Given the description of an element on the screen output the (x, y) to click on. 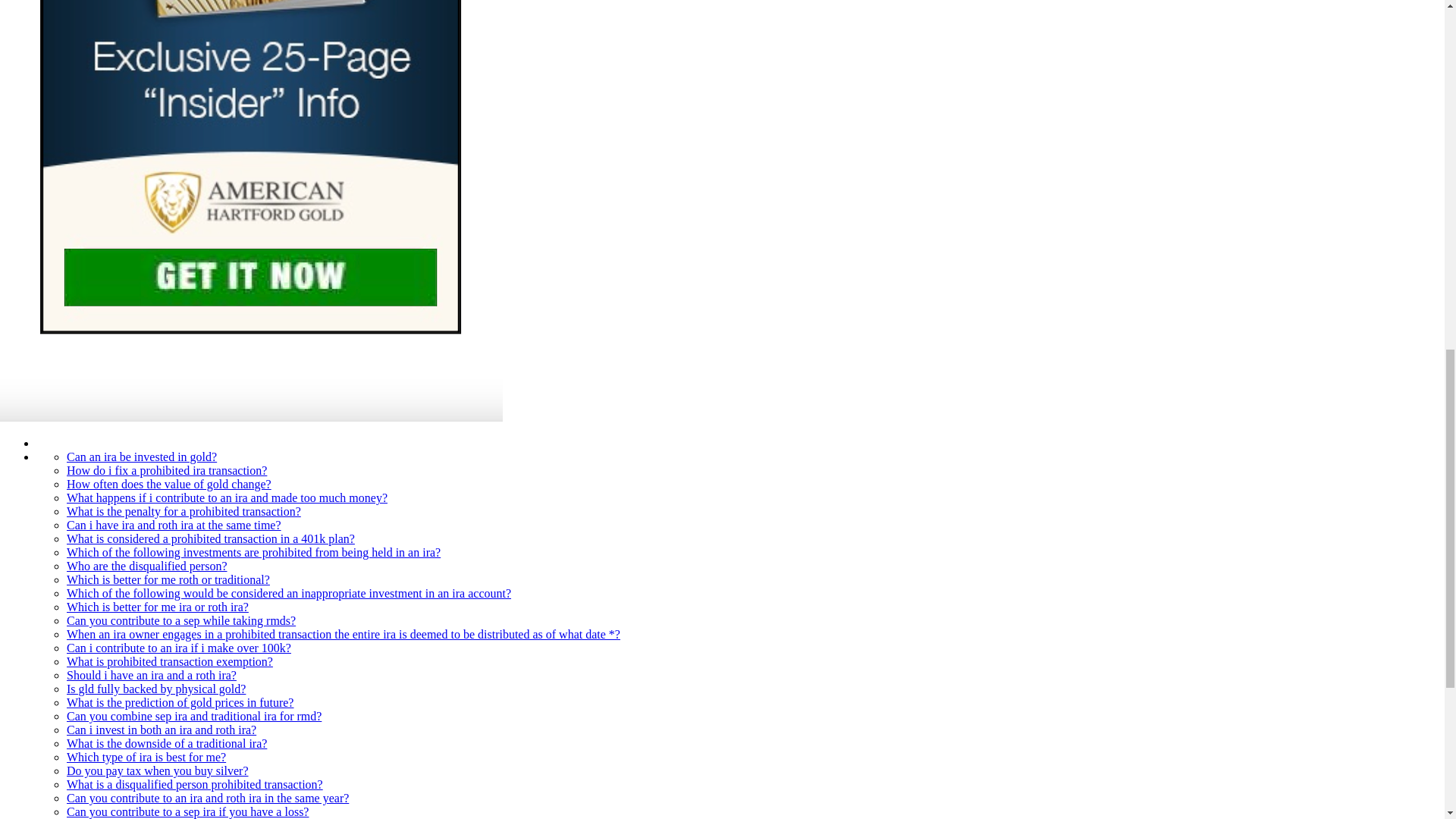
Which is better for me ira or roth ira? (157, 606)
What is a disqualified person prohibited transaction? (194, 784)
Can you contribute to an ira and roth ira in the same year? (207, 797)
Can you contribute to a sep ira if you have a loss? (187, 811)
What is the downside of a traditional ira? (166, 743)
Can you combine sep ira and traditional ira for rmd? (193, 716)
Which is better for me roth or traditional? (167, 579)
Should i have an ira and a roth ira? (150, 675)
What is prohibited transaction exemption? (169, 661)
Is gld fully backed by physical gold? (156, 688)
What is the prediction of gold prices in future? (180, 702)
Which type of ira is best for me? (145, 757)
Can i invest in both an ira and roth ira? (161, 729)
How often does the value of gold change? (168, 483)
Can you contribute to a sep while taking rmds? (180, 620)
